Given the description of an element on the screen output the (x, y) to click on. 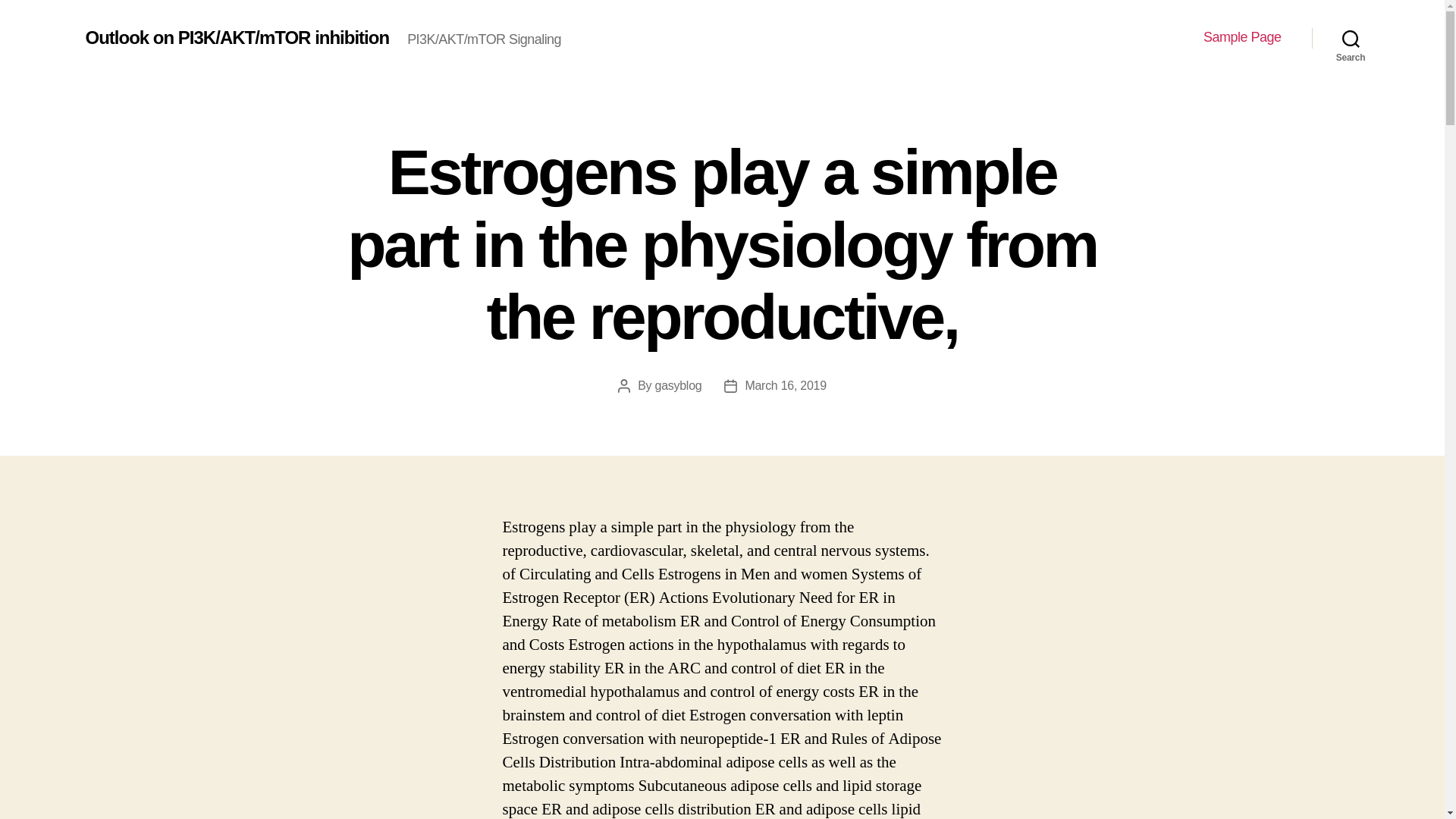
March 16, 2019 (784, 385)
Search (1350, 37)
Sample Page (1242, 37)
gasyblog (678, 385)
